Given the description of an element on the screen output the (x, y) to click on. 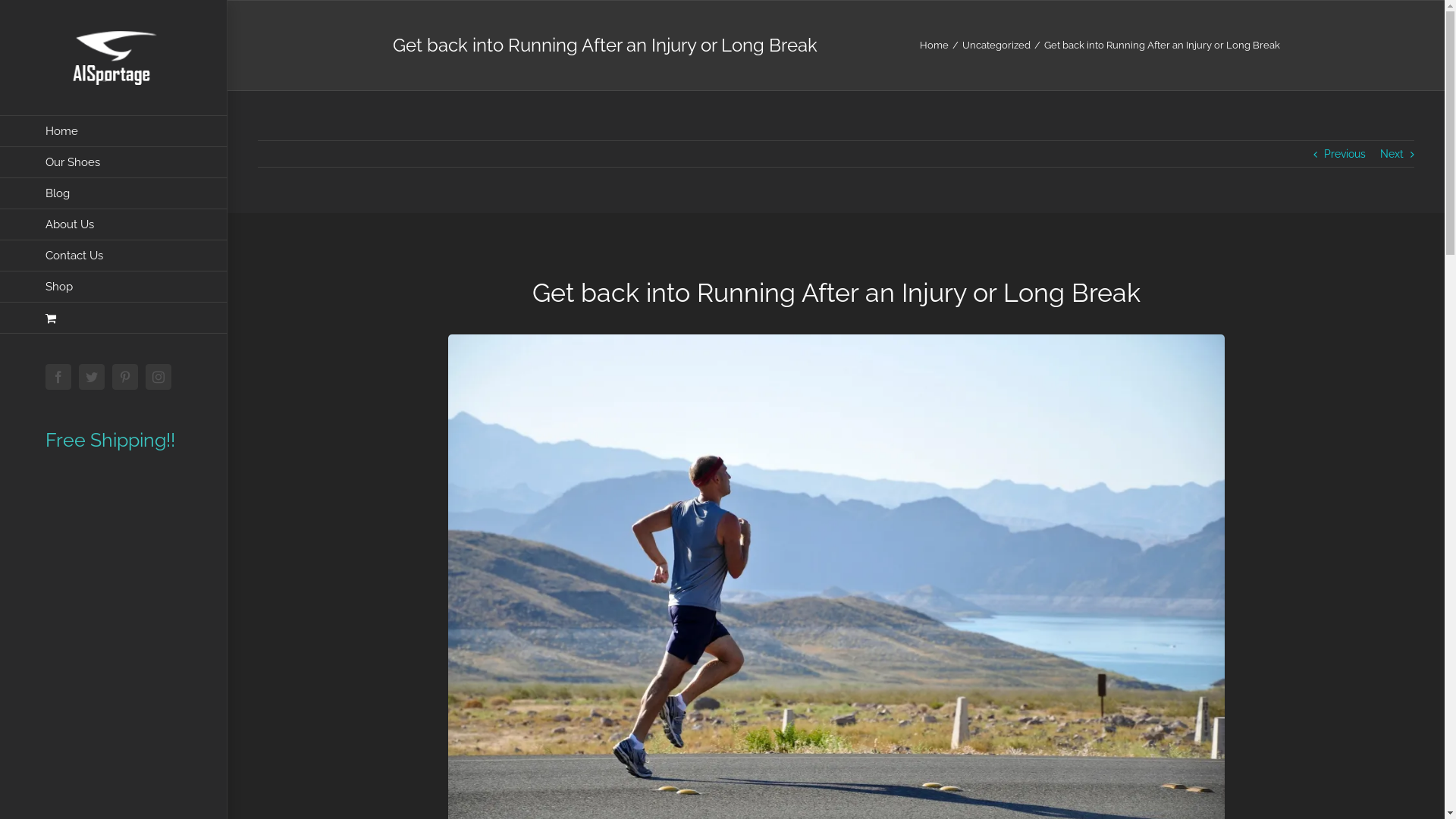
Home Element type: text (113, 131)
About Us Element type: text (113, 224)
Previous Element type: text (1344, 153)
Twitter Element type: text (91, 376)
Uncategorized Element type: text (995, 44)
Contact Us Element type: text (113, 255)
Pinterest Element type: text (125, 376)
Blog Element type: text (113, 193)
Instagram Element type: text (158, 376)
Next Element type: text (1391, 153)
Our Shoes Element type: text (113, 162)
Shop Element type: text (113, 286)
Home Element type: text (933, 44)
Facebook Element type: text (58, 376)
